Given the description of an element on the screen output the (x, y) to click on. 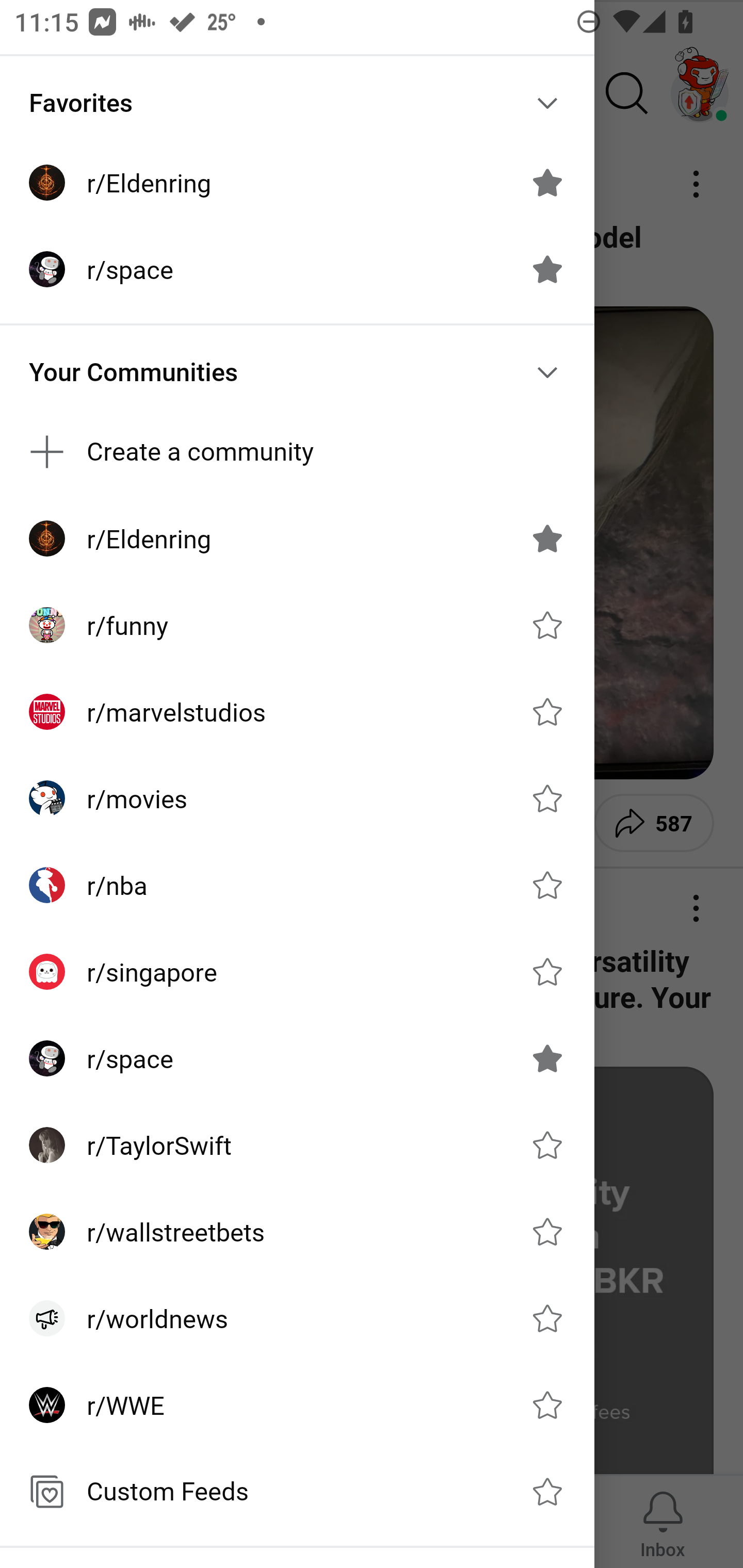
Favorites (297, 103)
r/Eldenring Unfavorite r/Eldenring (297, 182)
Unfavorite r/Eldenring (546, 182)
r/space Unfavorite r/space (297, 268)
Unfavorite r/space (546, 268)
Your Communities (297, 372)
Create a community (297, 452)
r/Eldenring Unfavorite r/Eldenring (297, 538)
Unfavorite r/Eldenring (546, 538)
r/funny Favorite r/funny (297, 624)
Favorite r/funny (546, 624)
r/marvelstudios Favorite r/marvelstudios (297, 711)
Favorite r/marvelstudios (546, 711)
r/movies Favorite r/movies (297, 798)
Favorite r/movies (546, 798)
r/nba Favorite r/nba (297, 885)
Favorite r/nba (546, 885)
r/singapore Favorite r/singapore (297, 971)
Favorite r/singapore (546, 971)
r/space Unfavorite r/space (297, 1058)
Unfavorite r/space (546, 1058)
r/TaylorSwift Favorite r/TaylorSwift (297, 1145)
Favorite r/TaylorSwift (546, 1145)
r/wallstreetbets Favorite r/wallstreetbets (297, 1231)
Favorite r/wallstreetbets (546, 1231)
r/worldnews Favorite r/worldnews (297, 1317)
Favorite r/worldnews (546, 1317)
r/WWE Favorite r/WWE (297, 1404)
Favorite r/WWE (546, 1404)
Custom Feeds (297, 1491)
